Given the description of an element on the screen output the (x, y) to click on. 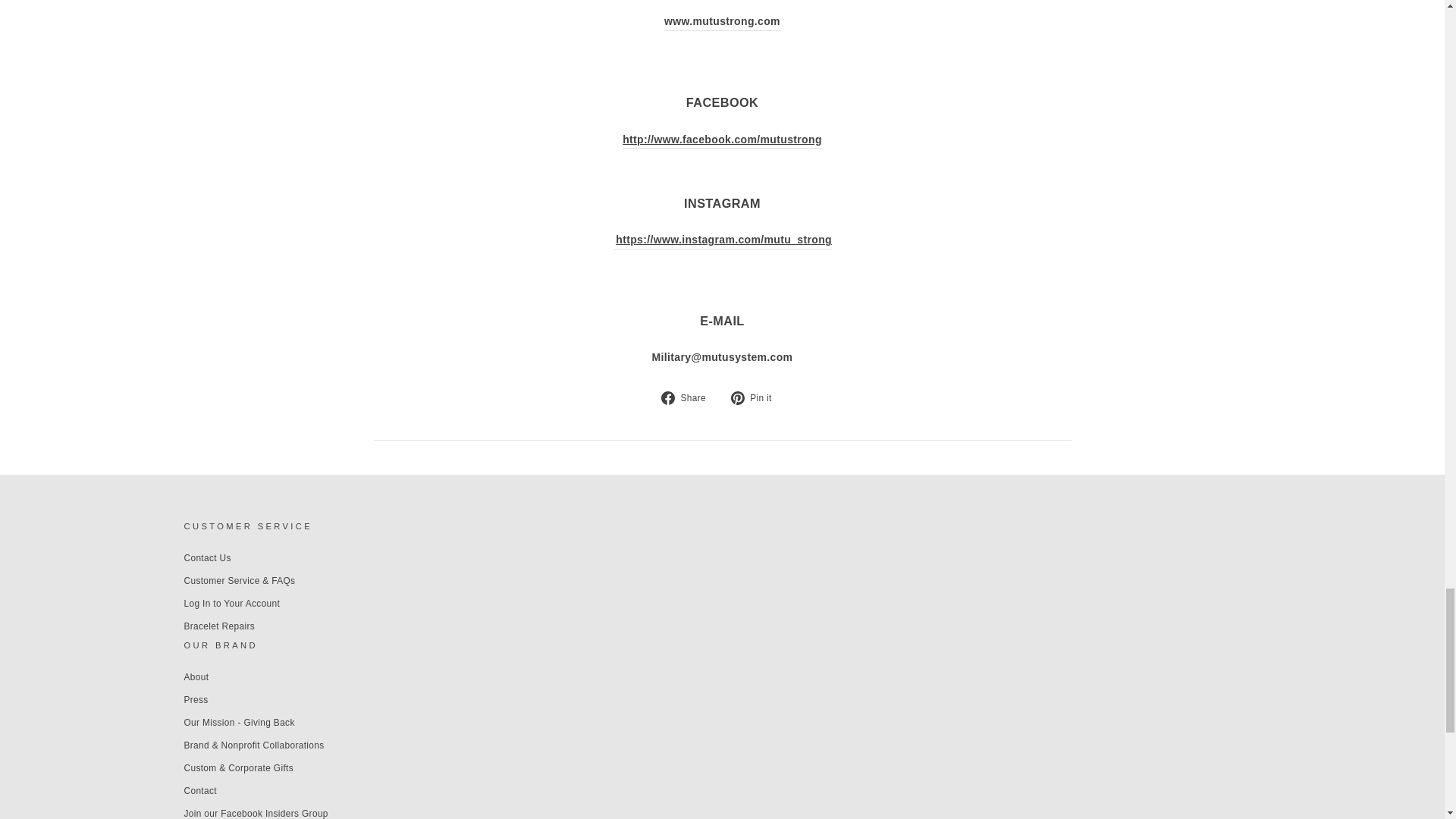
Share on Facebook (689, 397)
Military Outreach MUTU System (721, 21)
MUTU Strong on facebook (722, 139)
Pin on Pinterest (756, 397)
MUTU strong on instagram (721, 239)
